Given the description of an element on the screen output the (x, y) to click on. 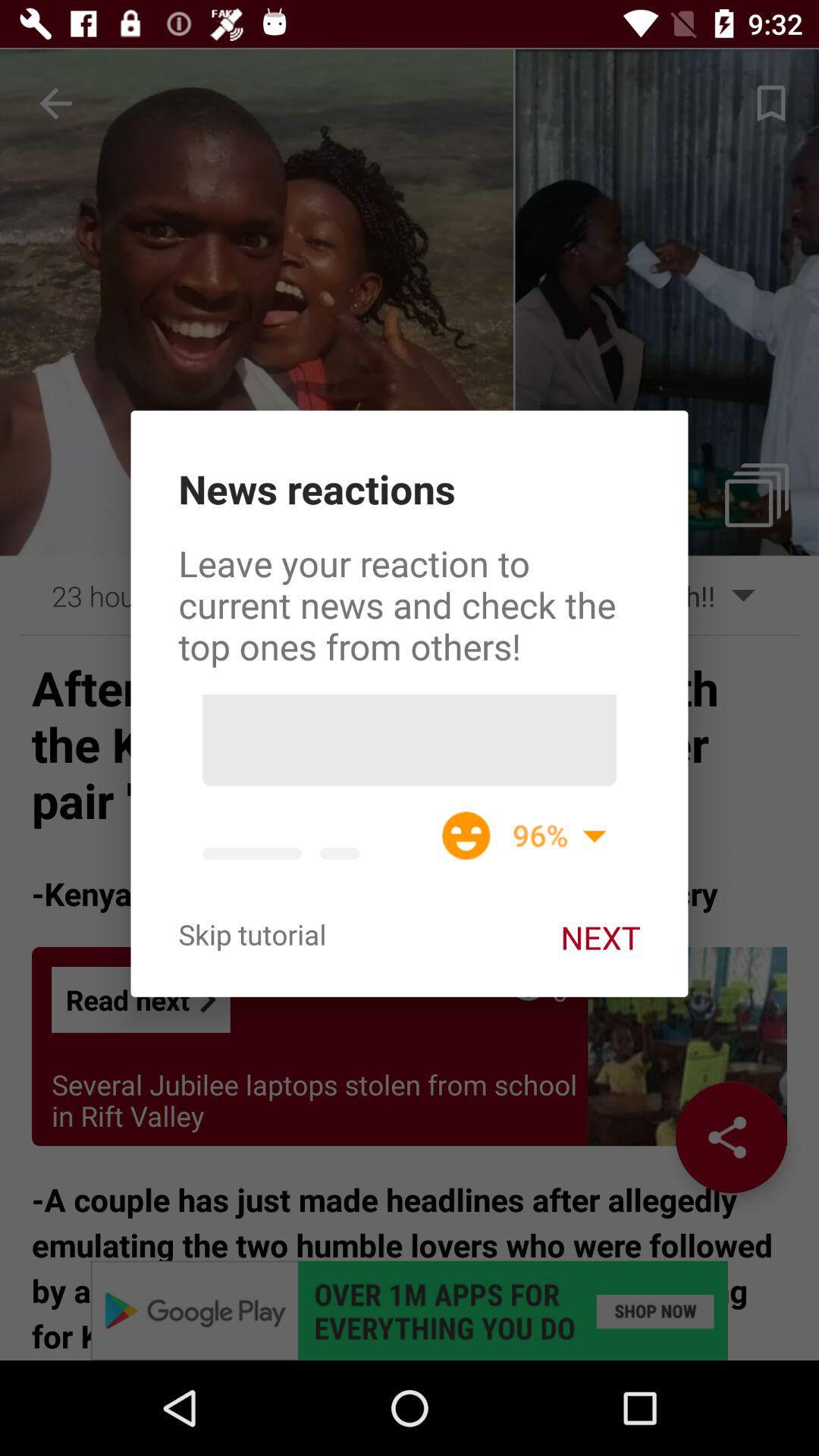
turn on the icon on the right (600, 936)
